Given the description of an element on the screen output the (x, y) to click on. 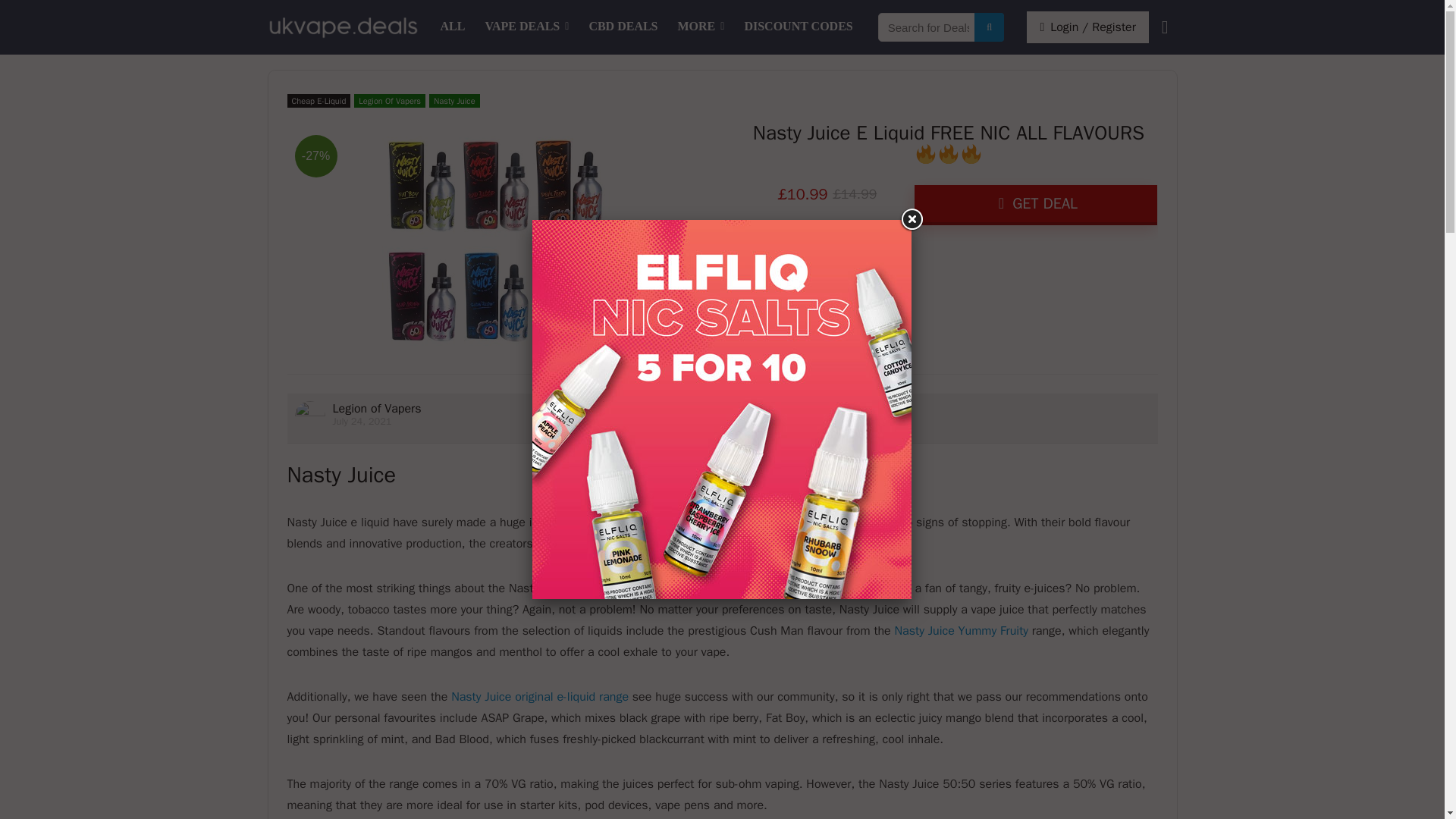
Nasty Juice original e-liquid range (539, 696)
Nasty Juice (454, 100)
View all posts in Cheap E-Liquid (318, 100)
Nasty Juice Yummy Fruity (961, 630)
View all posts in Legion Of Vapers (389, 100)
ALL (453, 27)
DISCOUNT CODES (797, 27)
GET DEAL (1035, 205)
CBD DEALS (622, 27)
Legion Of Vapers (389, 100)
MORE (701, 27)
VAPE DEALS (526, 27)
UK Vape Deals  (453, 27)
Cheap E-Liquid (318, 100)
Vape Deals (526, 27)
